Given the description of an element on the screen output the (x, y) to click on. 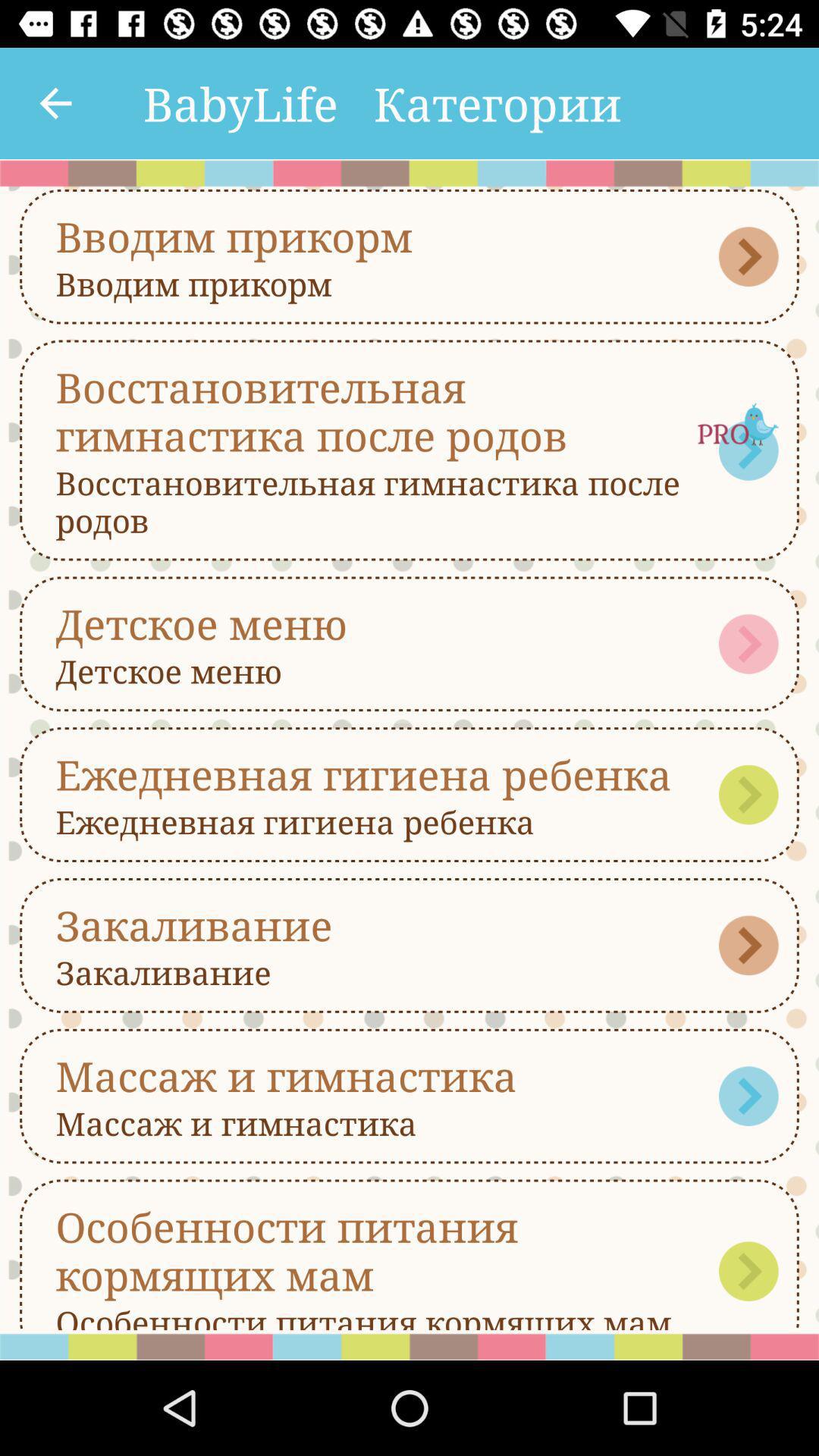
open the item to the left of the babylife item (55, 103)
